Given the description of an element on the screen output the (x, y) to click on. 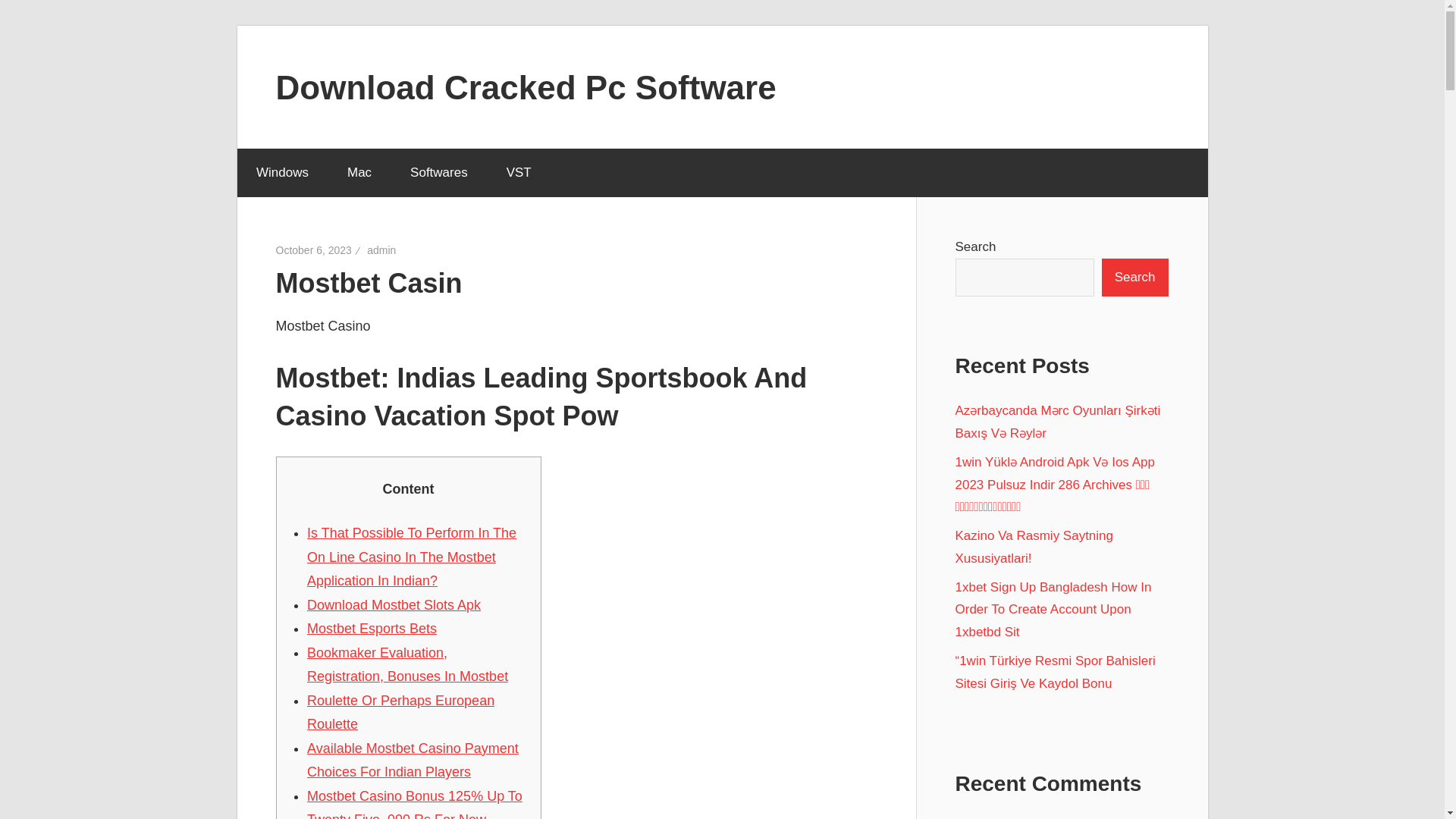
Download Mostbet Slots Apk (393, 604)
Windows (281, 172)
Download Cracked Pc Software (526, 86)
Mostbet Esports Bets (371, 628)
Bookmaker Evaluation, Registration, Bonuses In Mostbet (407, 664)
Softwares (439, 172)
VST (518, 172)
View all posts by admin (381, 250)
Roulette Or Perhaps European Roulette (401, 712)
Mac (358, 172)
3:58 am (314, 250)
Available Mostbet Casino Payment Choices For Indian Players (412, 760)
October 6, 2023 (314, 250)
